Given the description of an element on the screen output the (x, y) to click on. 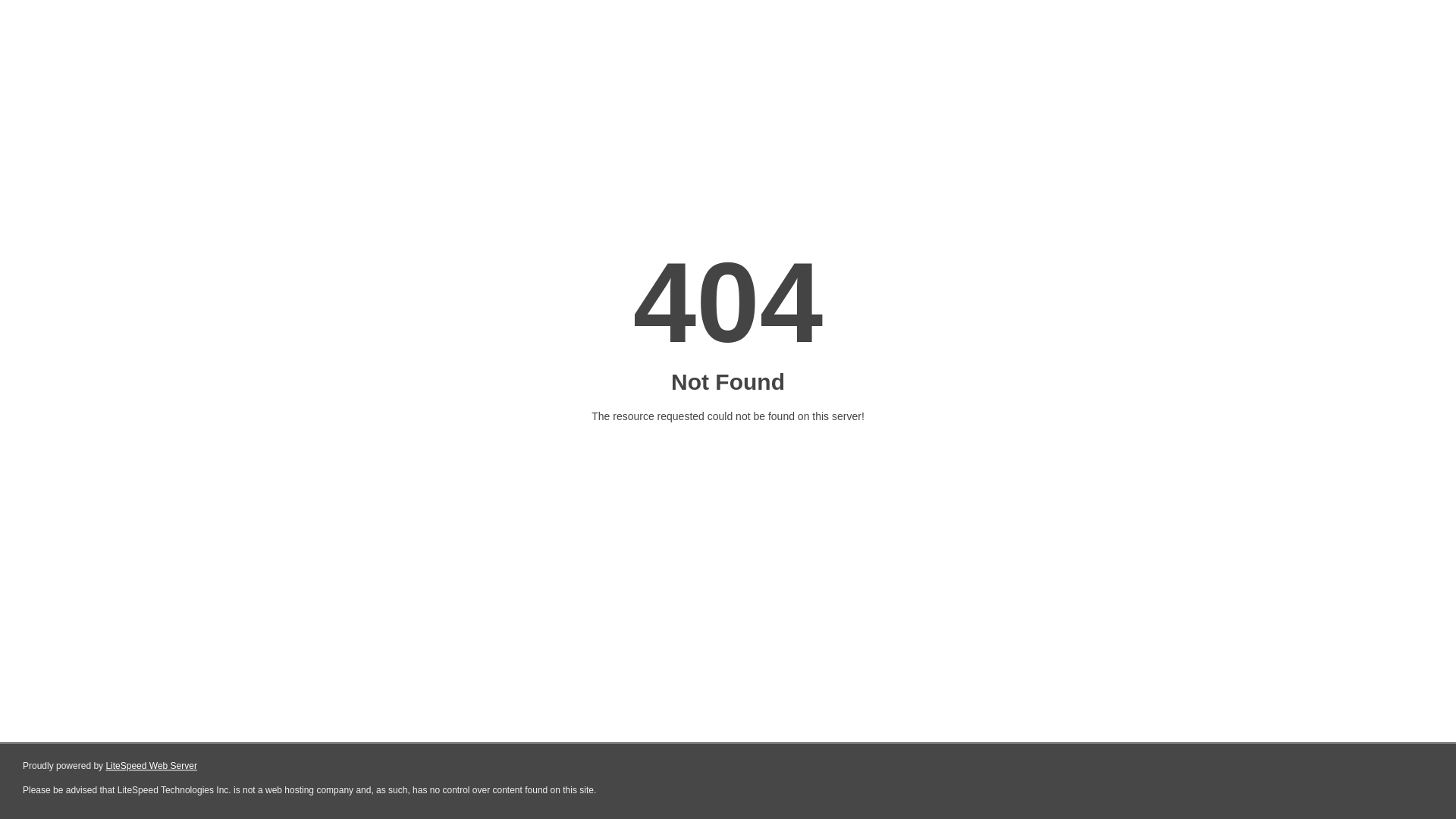
LiteSpeed Web Server Element type: text (151, 765)
